Given the description of an element on the screen output the (x, y) to click on. 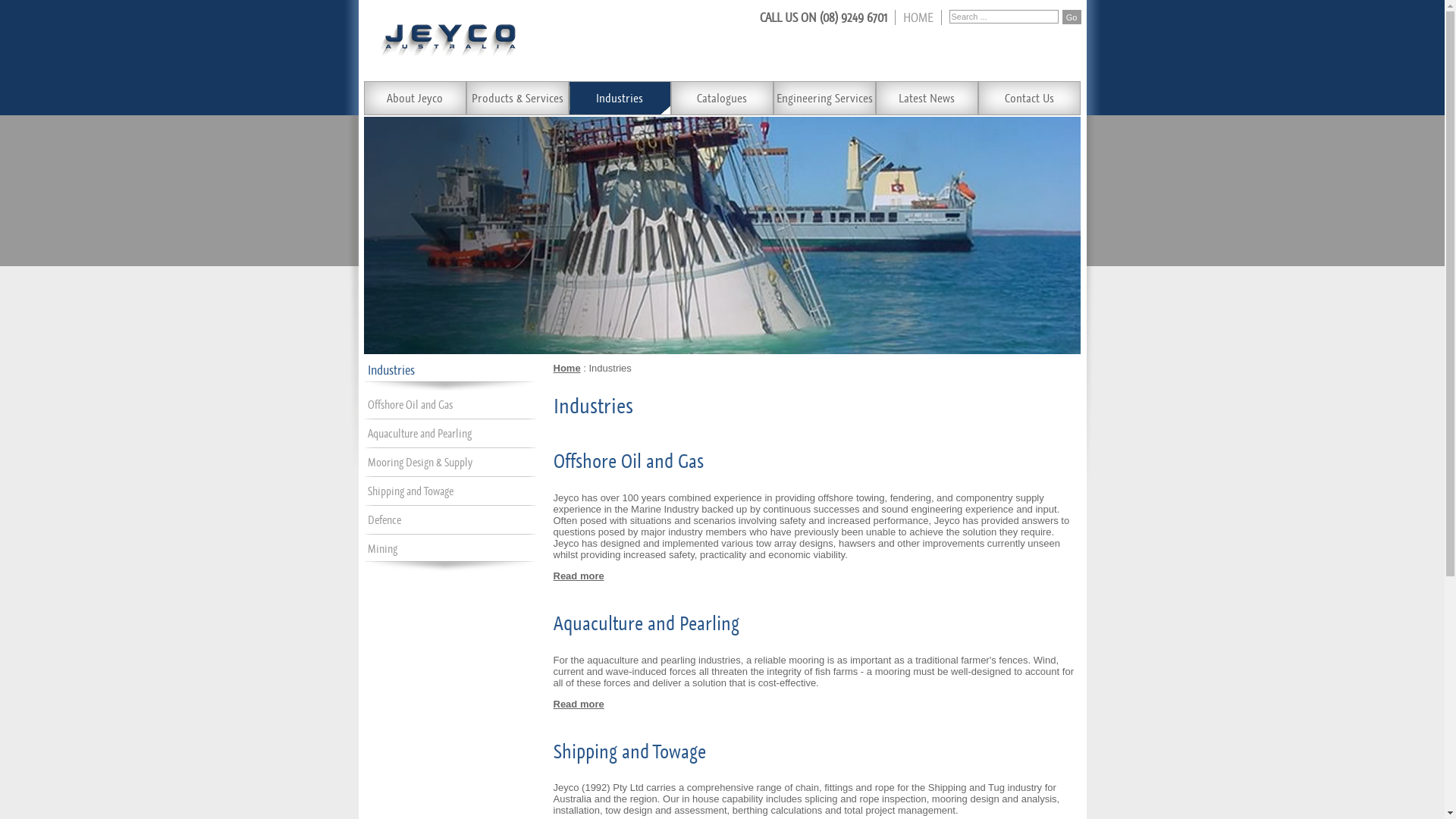
Mooring Design & Supply Element type: text (419, 462)
Read more Element type: text (578, 575)
Industries Element type: text (619, 98)
Mining Element type: text (381, 548)
Catalogues Element type: text (721, 98)
Aquaculture and Pearling Element type: text (418, 433)
Shipping and Towage Element type: text (409, 491)
Jeyco Element type: hover (448, 38)
Engineering Services Element type: text (824, 98)
Offshore Oil and Gas Element type: text (409, 404)
Products & Services Element type: text (516, 98)
Go Element type: text (1070, 16)
Defence Element type: text (383, 520)
HOME Element type: text (917, 17)
About Jeyco Element type: text (415, 98)
Home Element type: text (566, 367)
Read more Element type: text (578, 703)
Contact Us Element type: text (1029, 98)
Latest News Element type: text (926, 98)
